Given the description of an element on the screen output the (x, y) to click on. 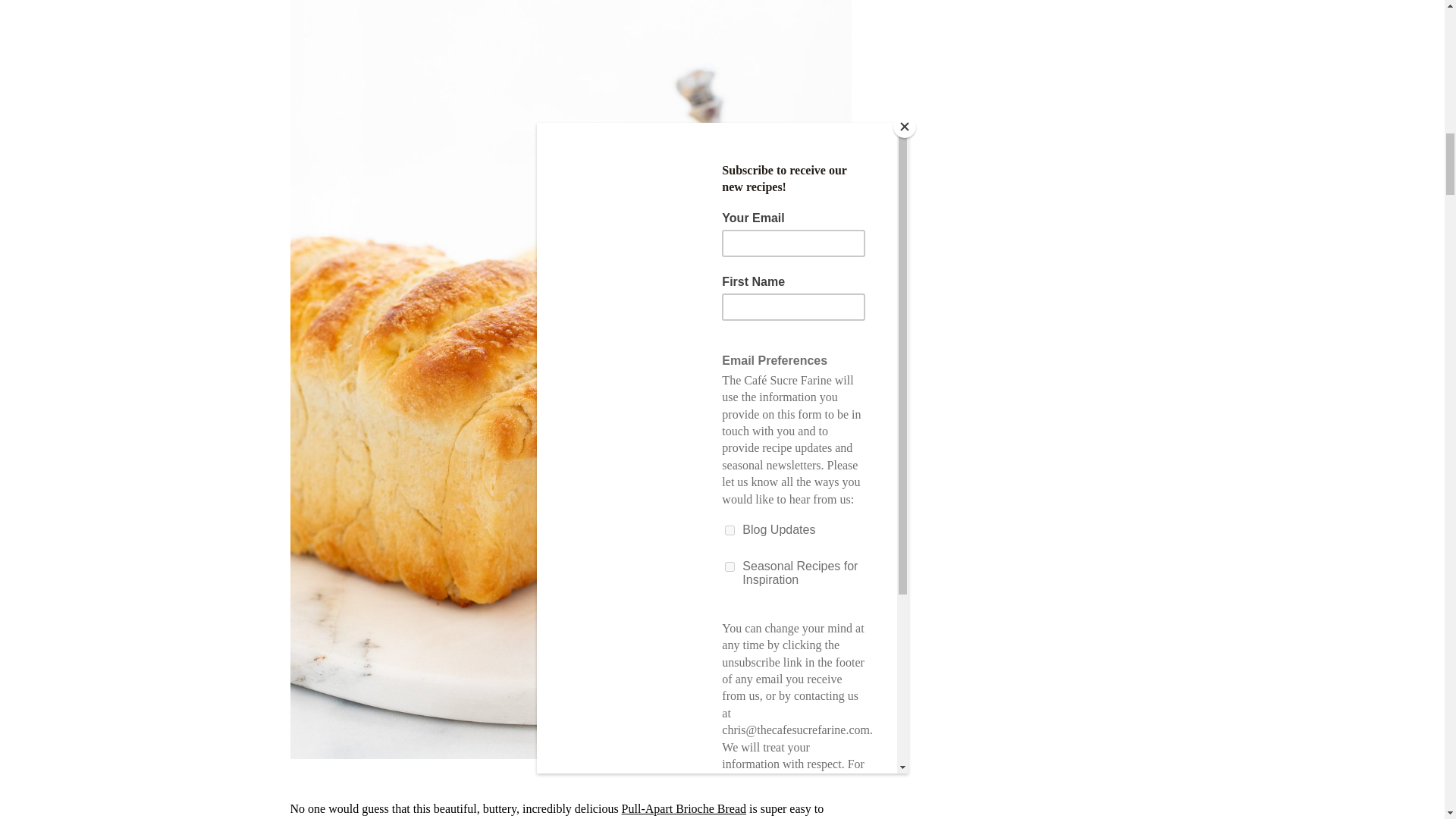
Pull-Apart Brioche Bread (683, 808)
